Given the description of an element on the screen output the (x, y) to click on. 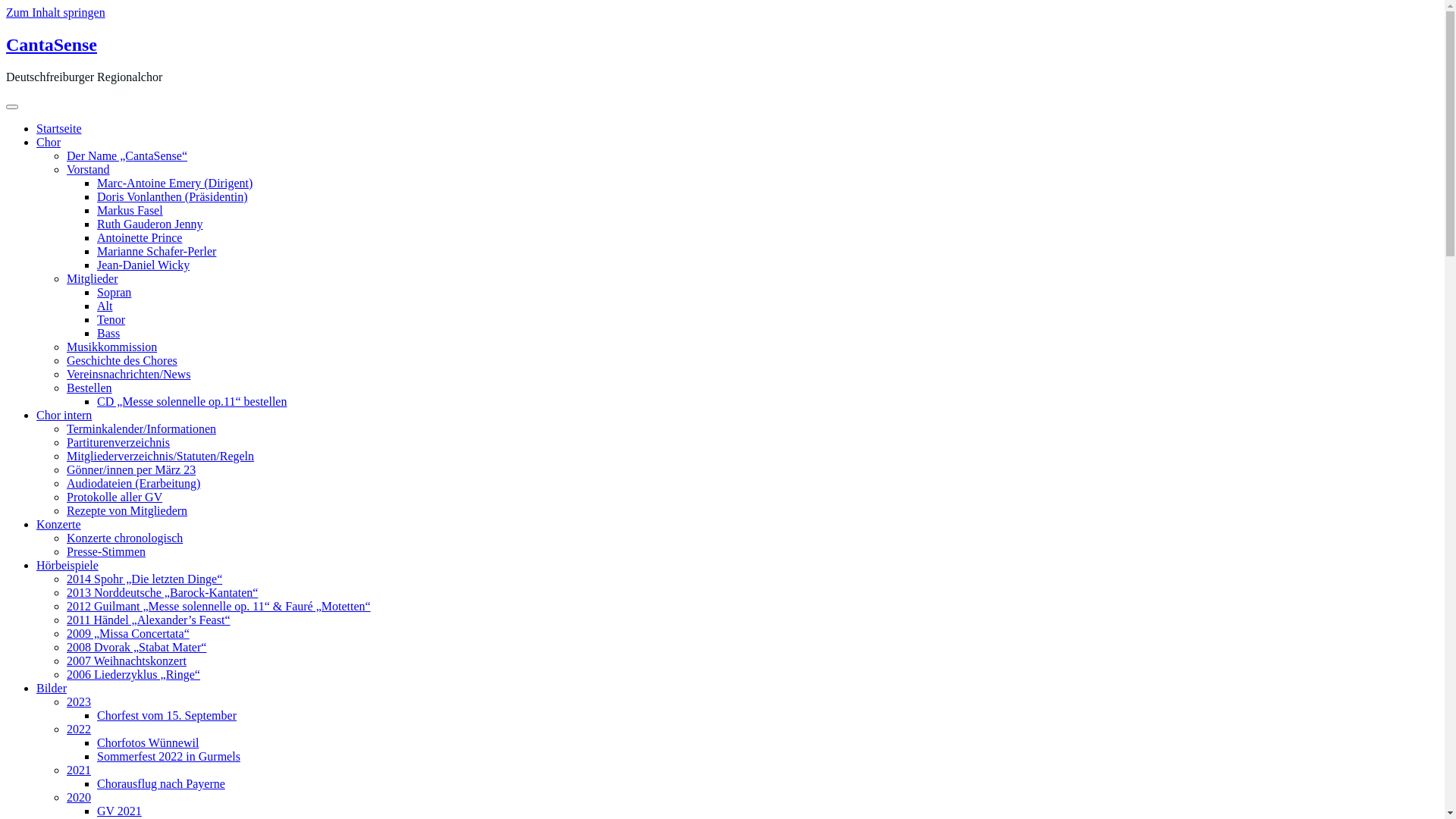
Antoinette Prince Element type: text (139, 237)
Zum Inhalt springen Element type: text (55, 12)
Audiodateien (Erarbeitung) Element type: text (133, 482)
Vorstand Element type: text (87, 169)
Chor Element type: text (48, 141)
Presse-Stimmen Element type: text (105, 551)
Bass Element type: text (108, 332)
CantaSense Element type: text (51, 44)
Geschichte des Chores Element type: text (121, 360)
Bestellen Element type: text (89, 387)
Vereinsnachrichten/News Element type: text (128, 373)
Chorfest vom 15. September Element type: text (166, 715)
Jean-Daniel Wicky Element type: text (143, 264)
2007 Weihnachtskonzert Element type: text (126, 660)
Chorausflug nach Payerne Element type: text (161, 783)
2021 Element type: text (78, 769)
Marc-Antoine Emery (Dirigent) Element type: text (174, 182)
Startseite Element type: text (58, 128)
Rezepte von Mitgliedern Element type: text (126, 510)
Partiturenverzeichnis Element type: text (117, 442)
Markus Fasel Element type: text (130, 209)
Sommerfest 2022 in Gurmels Element type: text (168, 755)
Ruth Gauderon Jenny Element type: text (150, 223)
Sopran Element type: text (114, 291)
GV 2021 Element type: text (119, 810)
Tenor Element type: text (111, 319)
Terminkalender/Informationen Element type: text (141, 428)
Mitglieder Element type: text (92, 278)
Alt Element type: text (104, 305)
Bilder Element type: text (51, 687)
Chor intern Element type: text (63, 414)
Marianne Schafer-Perler Element type: text (156, 250)
Musikkommission Element type: text (111, 346)
Protokolle aller GV Element type: text (114, 496)
2020 Element type: text (78, 796)
2022 Element type: text (78, 728)
Konzerte Element type: text (58, 523)
Konzerte chronologisch Element type: text (124, 537)
Mitgliederverzeichnis/Statuten/Regeln Element type: text (160, 455)
2023 Element type: text (78, 701)
